Given the description of an element on the screen output the (x, y) to click on. 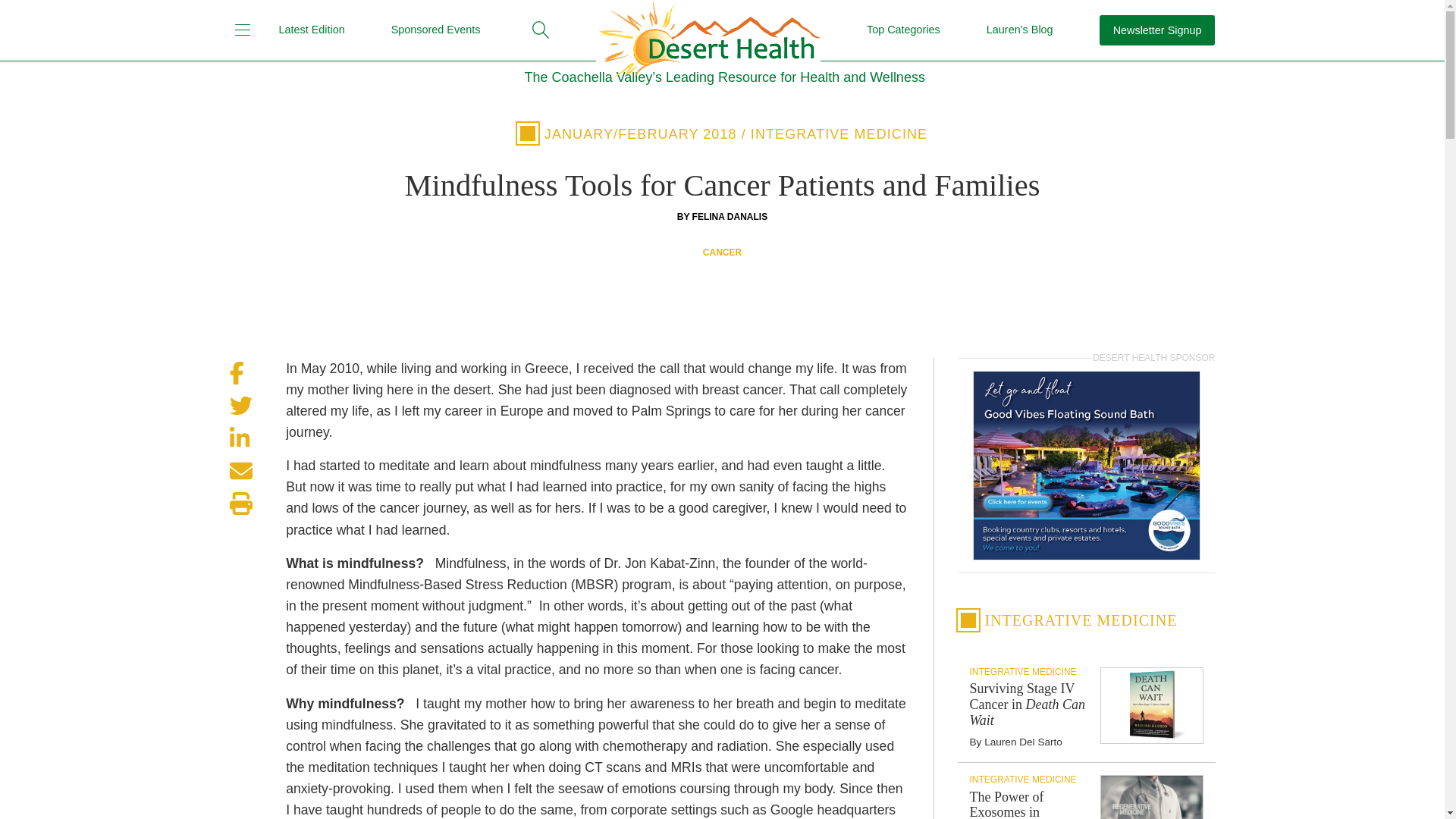
Latest Edition (312, 29)
Yes (1075, 396)
